Given the description of an element on the screen output the (x, y) to click on. 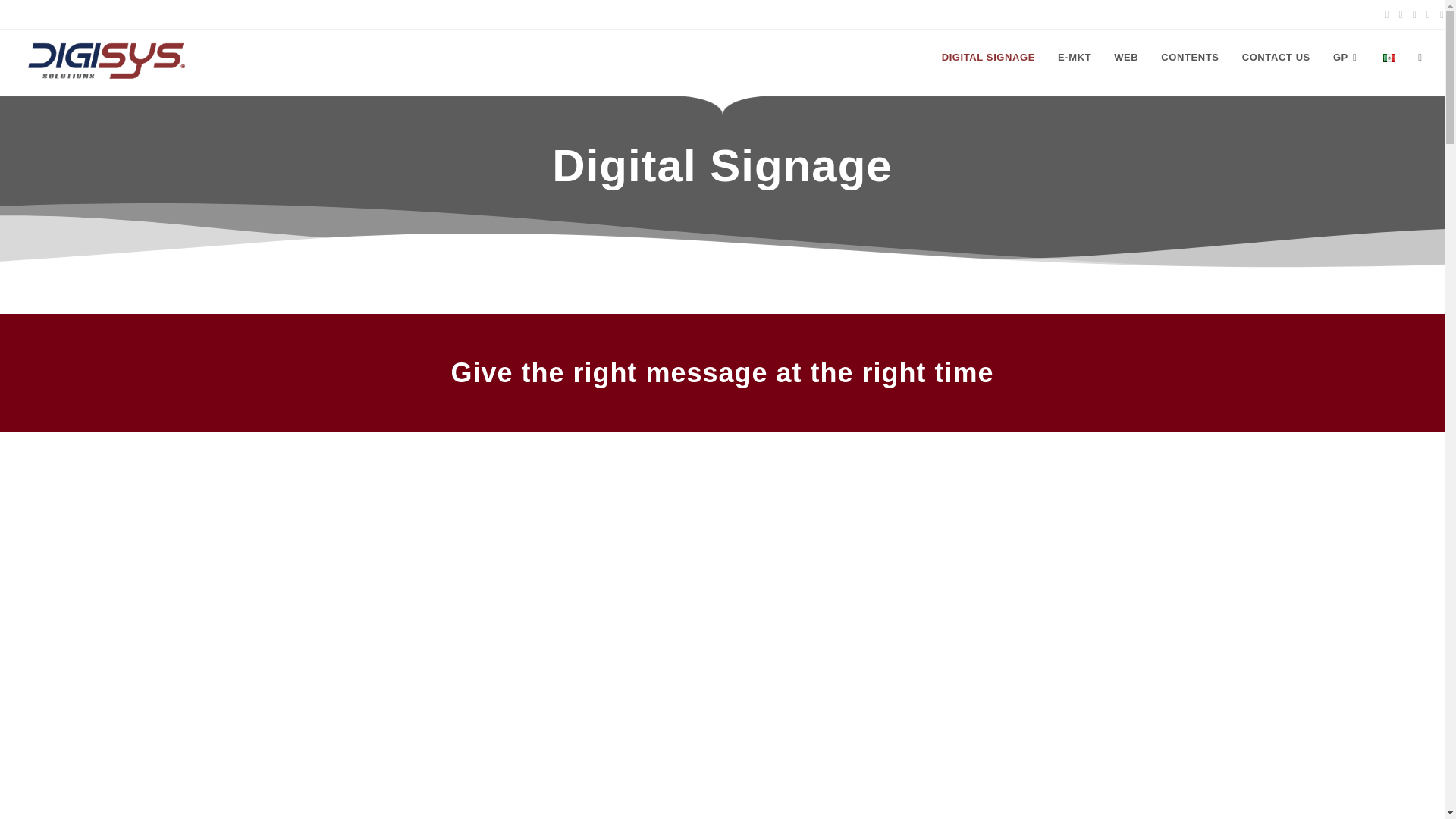
CONTACT US (1276, 57)
GP (1346, 57)
E-MKT (1074, 57)
CONTENTS (1190, 57)
DIGITAL SIGNAGE (988, 57)
